Given the description of an element on the screen output the (x, y) to click on. 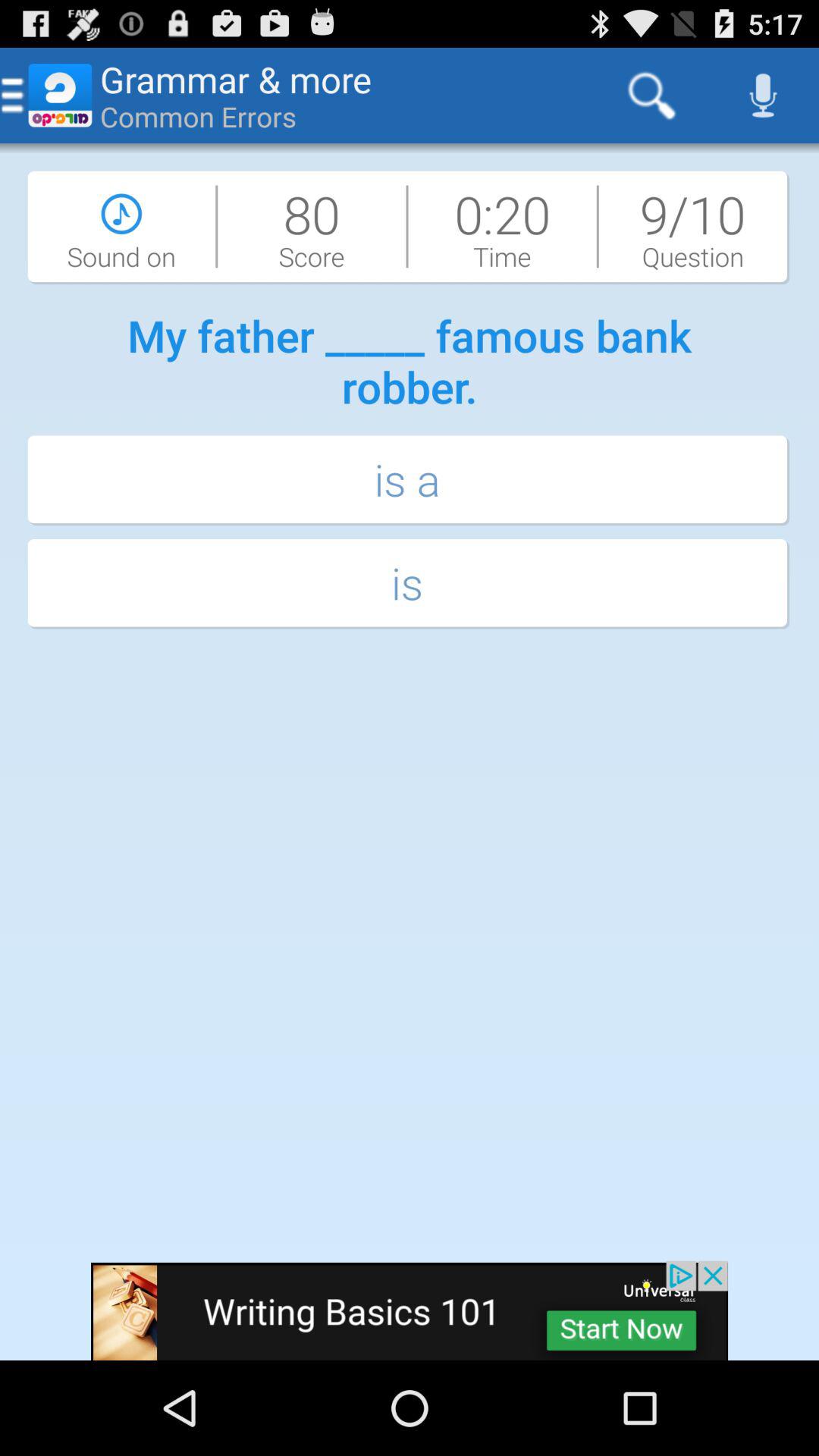
advertisement (409, 1310)
